Given the description of an element on the screen output the (x, y) to click on. 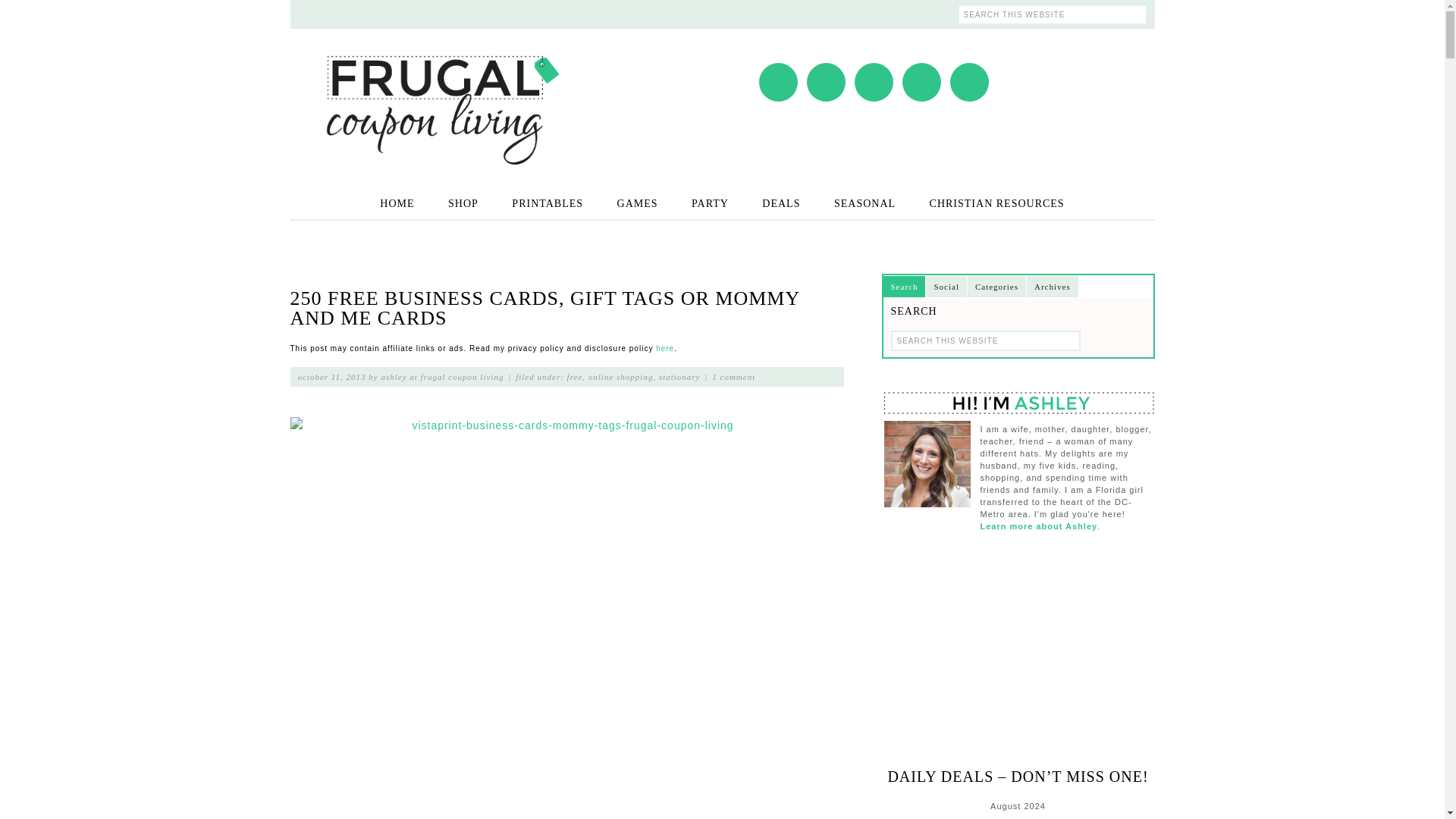
SHOP (462, 203)
PARTY (710, 203)
PRINTABLES (547, 203)
CHRISTIAN RESOURCES (997, 203)
Frugal Coupon Living (441, 90)
GAMES (637, 203)
HOME (397, 203)
SEASONAL (864, 203)
DEALS (780, 203)
